Given the description of an element on the screen output the (x, y) to click on. 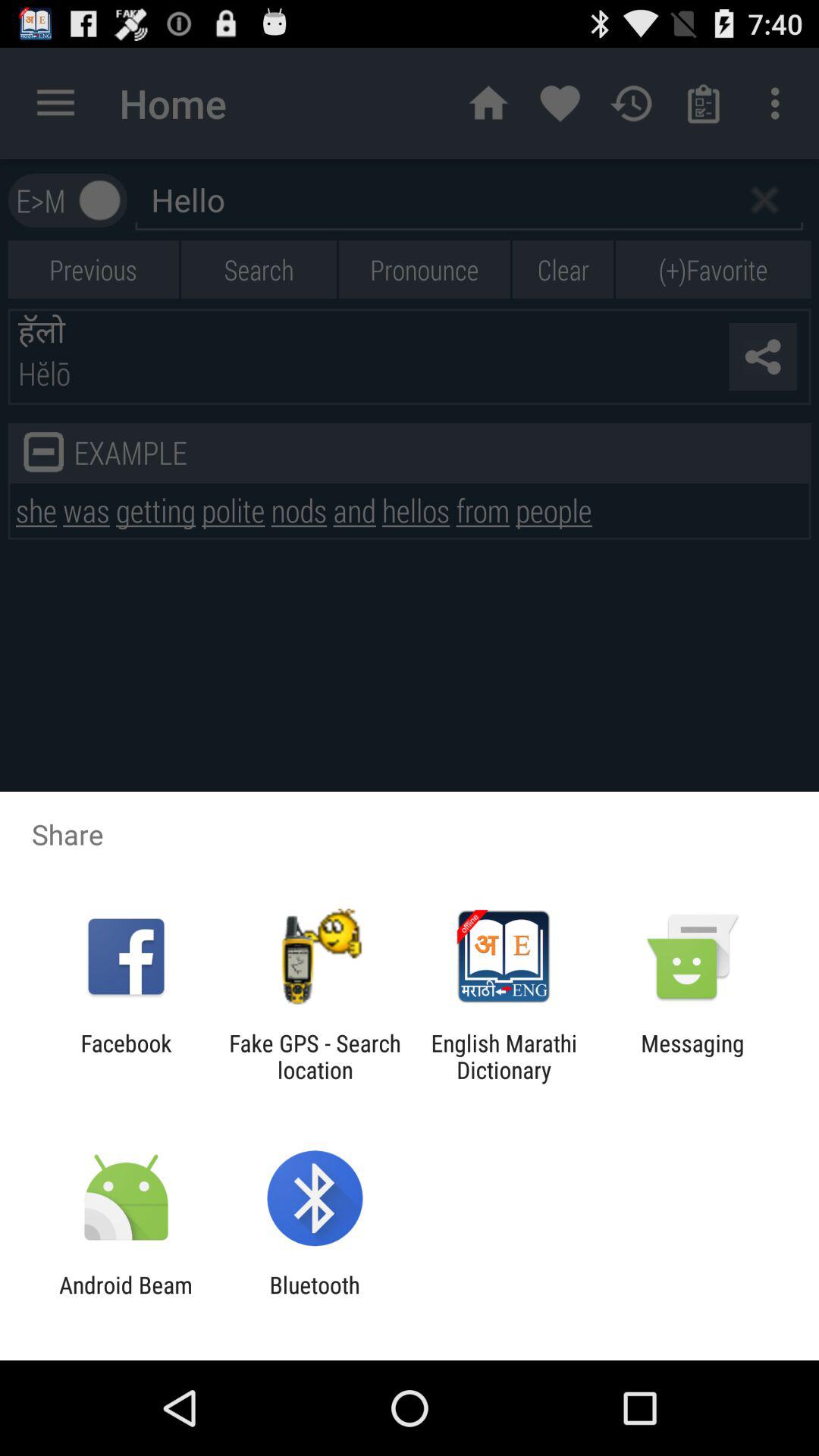
press icon to the right of android beam item (314, 1298)
